Given the description of an element on the screen output the (x, y) to click on. 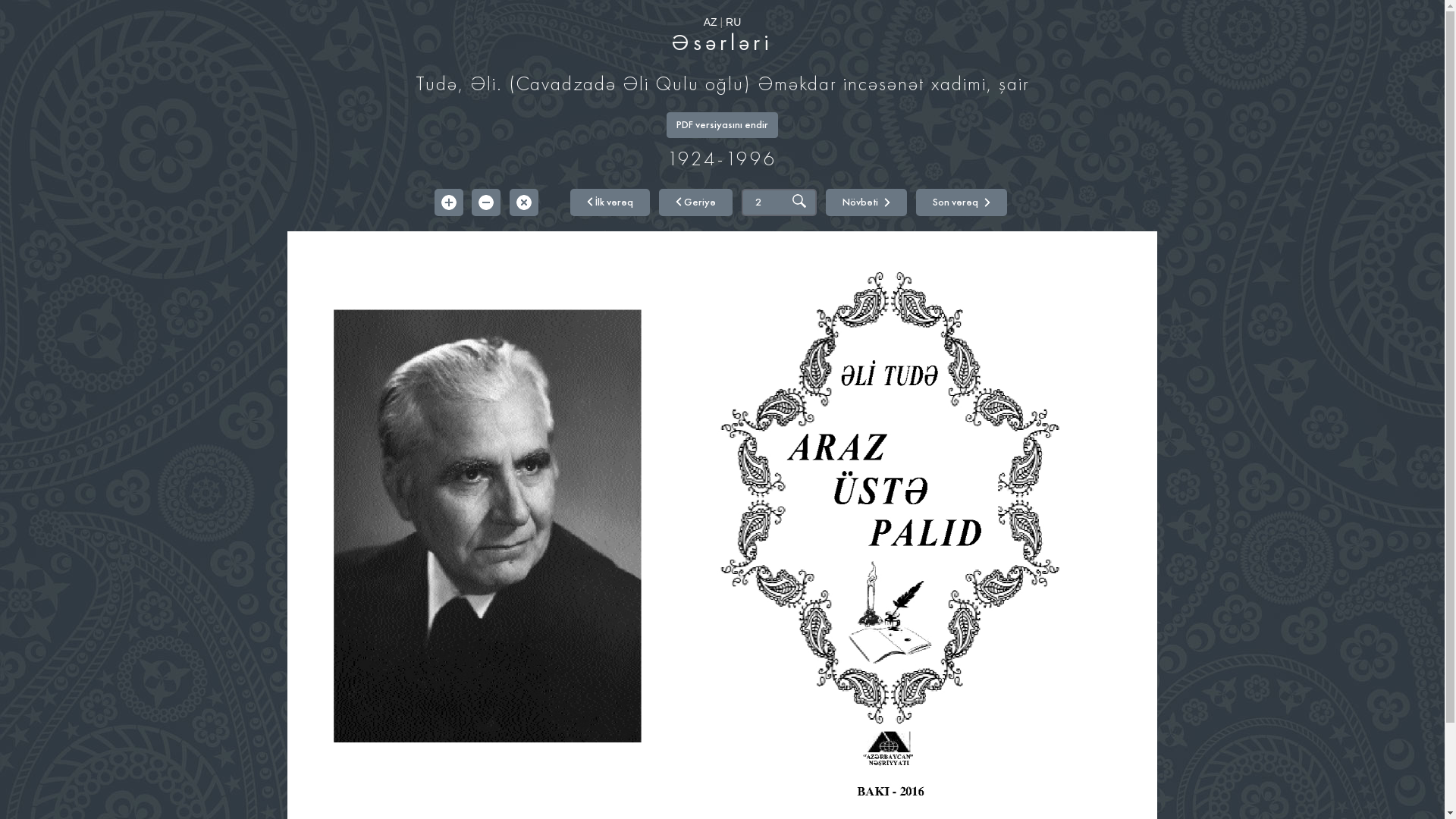
AZ Element type: text (710, 21)
RU Element type: text (732, 21)
